Given the description of an element on the screen output the (x, y) to click on. 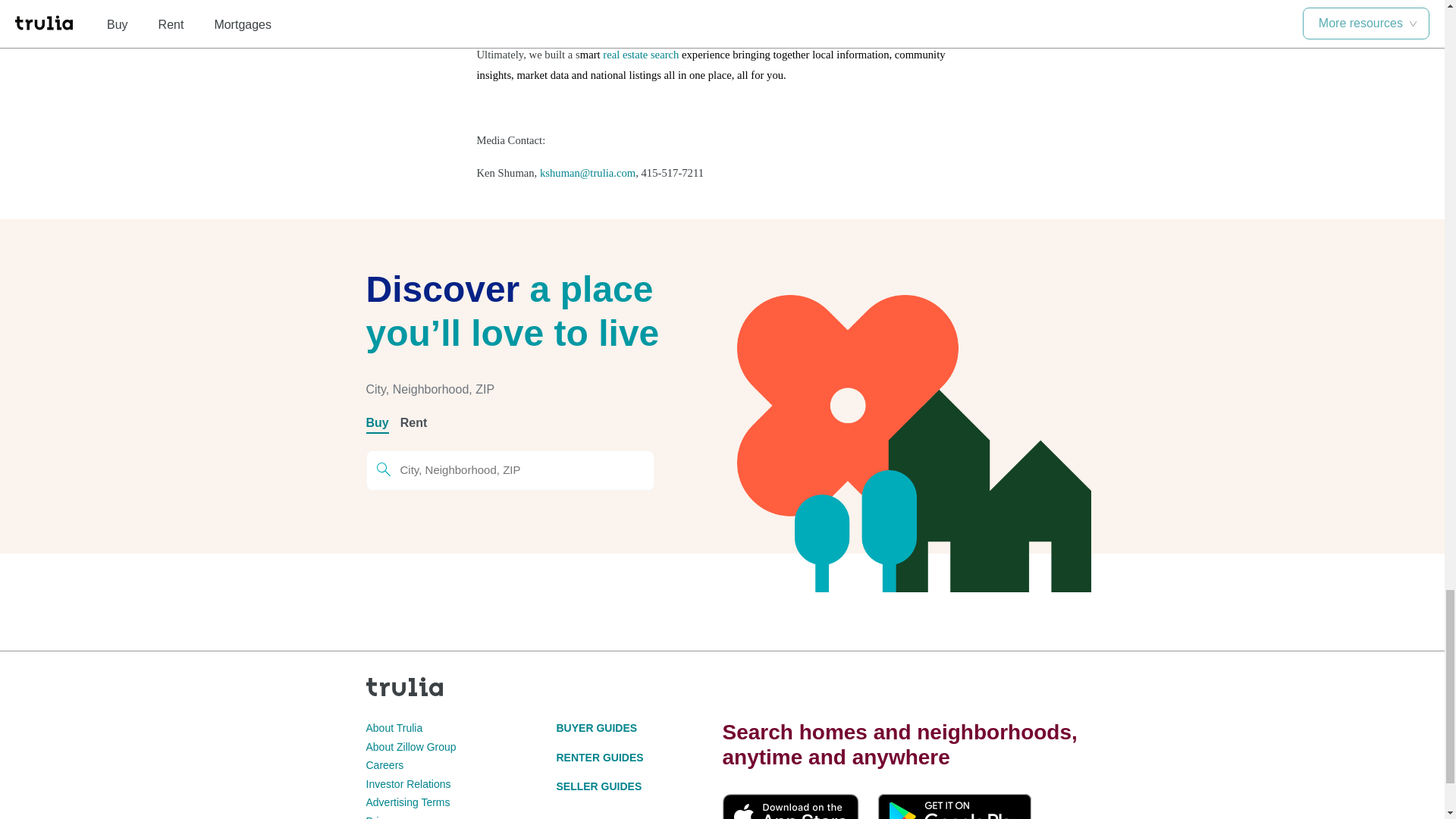
SELLER GUIDES (599, 786)
Privacy (382, 816)
real estate search (640, 53)
Careers (384, 765)
Download Android App (953, 806)
Download Apple App (790, 806)
Advertising Terms (407, 802)
BUYER GUIDES (596, 727)
About Trulia (393, 727)
About Zillow Group (410, 746)
Investor Relations (407, 784)
RENTER GUIDES (599, 757)
